Given the description of an element on the screen output the (x, y) to click on. 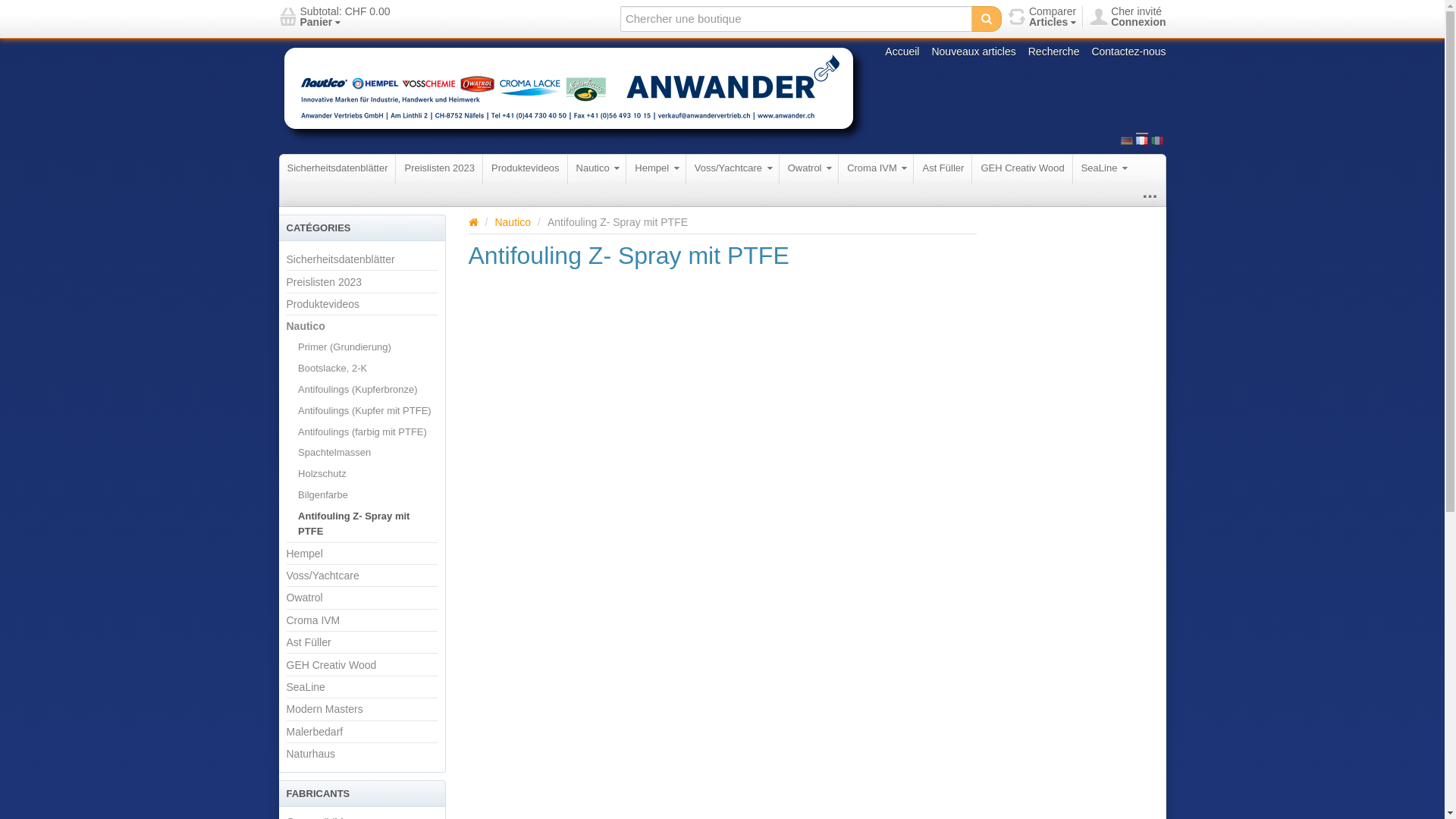
Subtotal: CHF 0.00
Panier Element type: text (334, 16)
Produktevideos Element type: text (323, 303)
italiano (Italia) Element type: hover (1157, 138)
Antifoulings (Kupferbronze) Element type: text (357, 389)
Voss/Yachtcare Element type: text (322, 575)
Anwander One-Stop Shop Element type: hover (574, 94)
Modern Masters Element type: text (324, 708)
Comparer
Articles Element type: text (1041, 16)
Antifoulings (farbig mit PTFE) Element type: text (362, 431)
Owatrol Element type: text (808, 168)
Hempel Element type: text (304, 553)
Croma IVM Element type: text (313, 619)
Contactez-nous Element type: text (1128, 51)
Bilgenfarbe Element type: text (323, 494)
... Element type: text (1144, 194)
Deutsch Element type: hover (1126, 140)
Produktevideos Element type: text (525, 168)
Haut de page Element type: hover (473, 222)
Deutsch (Schweiz) Element type: hover (1126, 138)
Naturhaus Element type: text (310, 753)
Preislisten 2023 Element type: text (439, 168)
Voss/Yachtcare Element type: text (732, 168)
Nouveaux articles Element type: text (973, 51)
SeaLine Element type: text (1103, 168)
Antifoulings (Kupfer mit PTFE) Element type: text (364, 410)
Accueil Element type: text (901, 51)
Nautico Element type: text (597, 168)
Bootslacke, 2-K Element type: text (332, 368)
GEH Creativ Wood Element type: text (331, 663)
Recherche Element type: text (1053, 51)
GEH Creativ Wood Element type: text (1021, 168)
Nautico Element type: text (305, 325)
Preislisten 2023 Element type: text (324, 280)
Italienisch Element type: hover (1157, 140)
Hempel Element type: text (655, 168)
Recherche Element type: hover (986, 18)
SeaLine Element type: text (305, 686)
Antifouling Z- Spray mit PTFE Element type: text (367, 523)
Owatrol Element type: text (304, 597)
Nautico Element type: text (512, 222)
Malerbedarf Element type: text (314, 731)
Spachtelmassen Element type: text (334, 452)
Primer (Grundierung) Element type: text (344, 346)
Croma IVM Element type: text (876, 168)
Holzschutz Element type: text (322, 473)
